Given the description of an element on the screen output the (x, y) to click on. 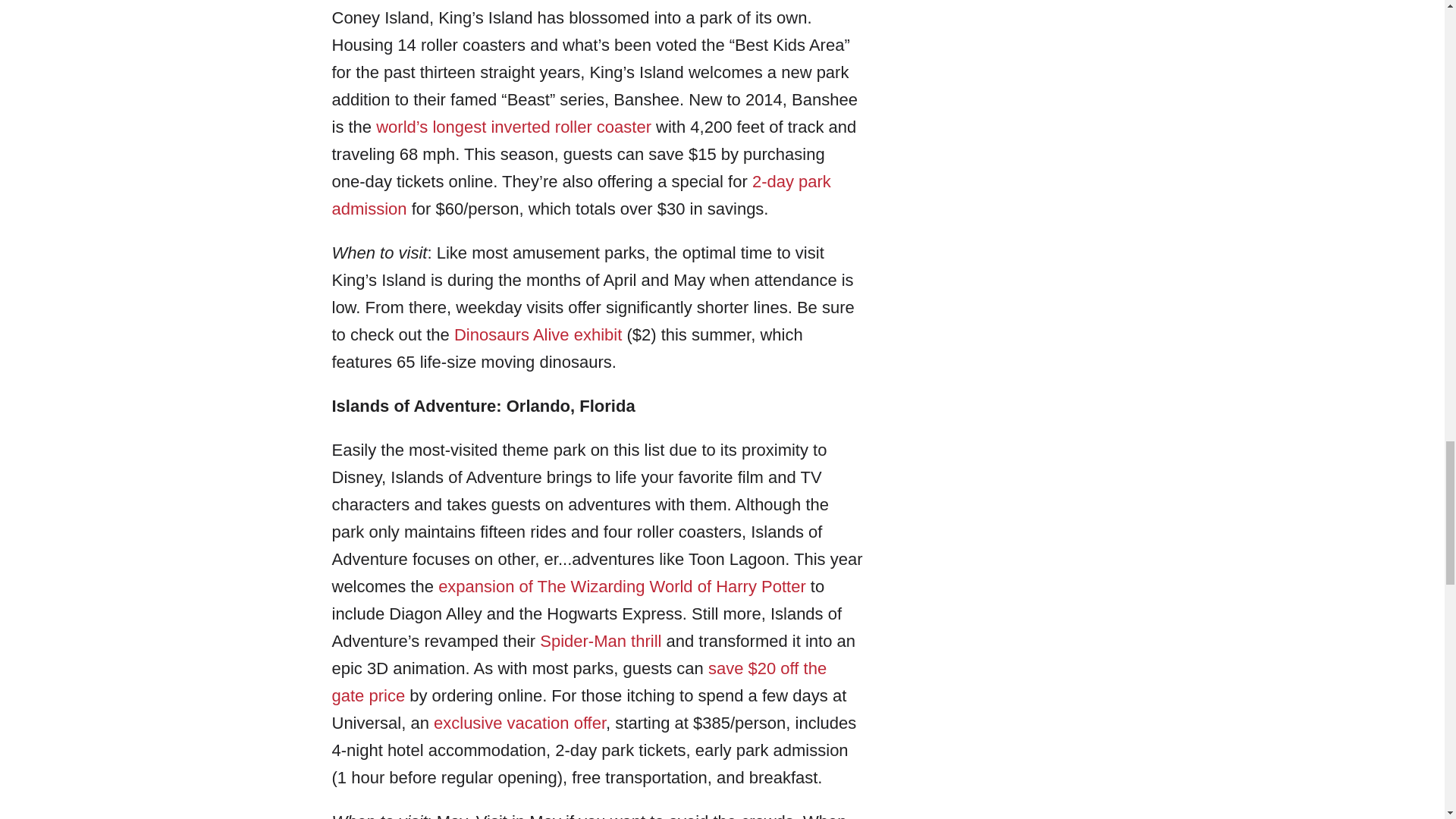
exclusive vacation offer (519, 722)
2-day park admission (581, 194)
Spider-Man thrill (600, 640)
expansion of The Wizarding World of Harry Potter (622, 586)
Dinosaurs Alive exhibit (537, 334)
